Given the description of an element on the screen output the (x, y) to click on. 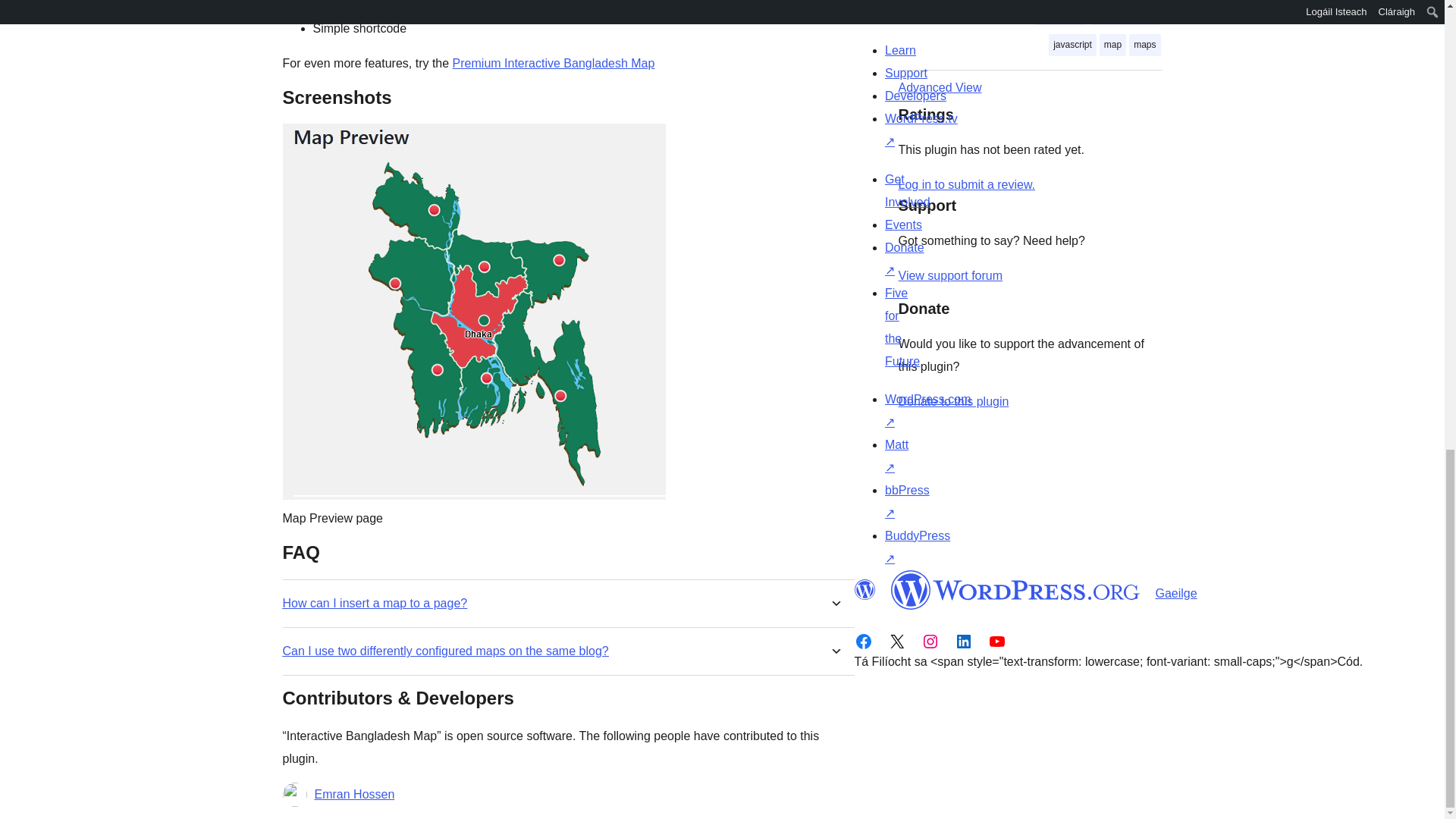
WordPress.org (1014, 589)
Log in to WordPress.org (966, 184)
Can I use two differently configured maps on the same blog? (445, 650)
Premium Interactive Bangladesh Map (553, 62)
How can I insert a map to a page? (374, 603)
Emran Hossen (354, 793)
WordPress.org (864, 589)
